Given the description of an element on the screen output the (x, y) to click on. 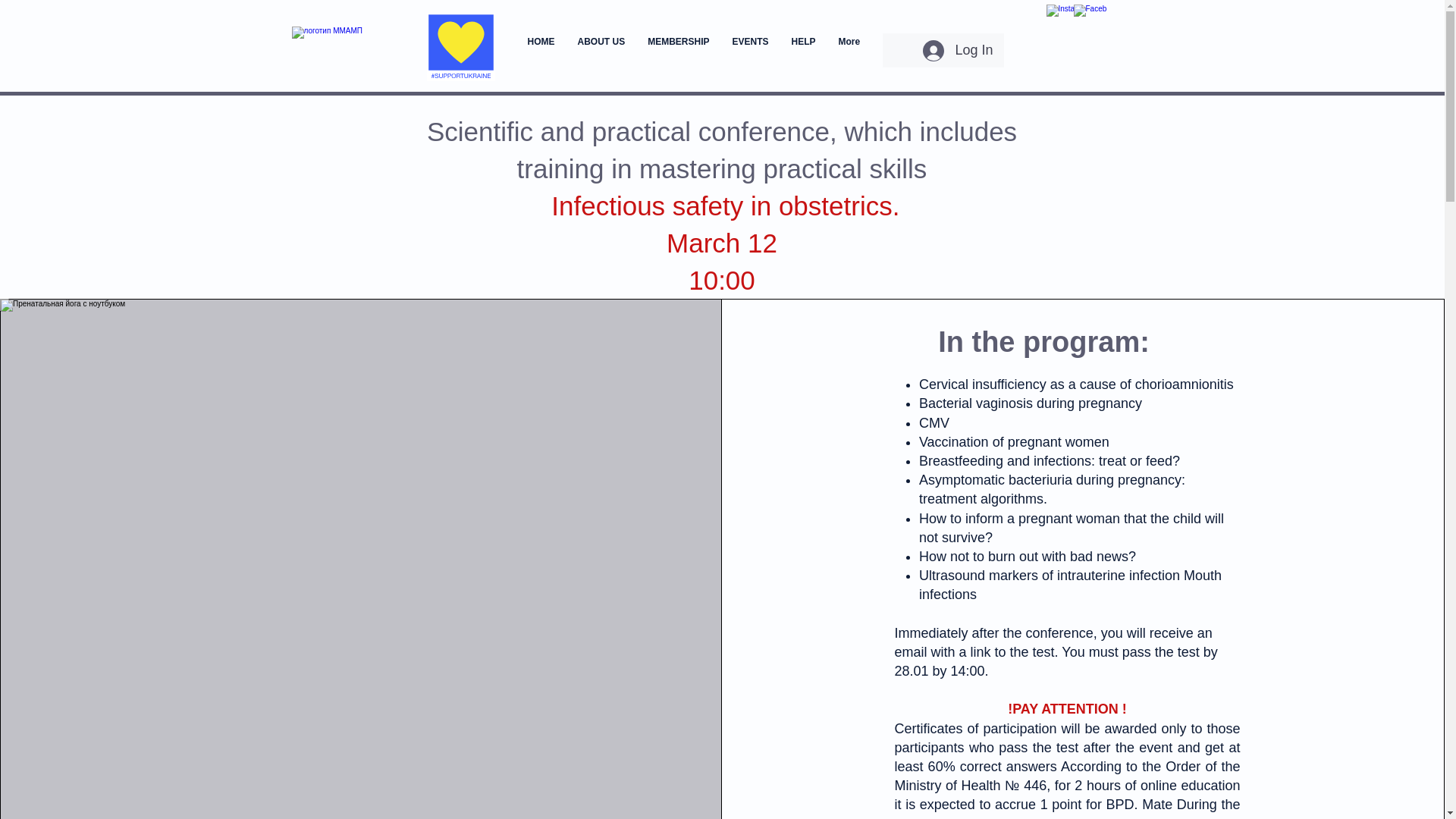
MEMBERSHIP (678, 52)
ABOUT US (601, 52)
HOME (540, 52)
HELP (803, 52)
EVENTS (750, 52)
Log In (957, 50)
